Given the description of an element on the screen output the (x, y) to click on. 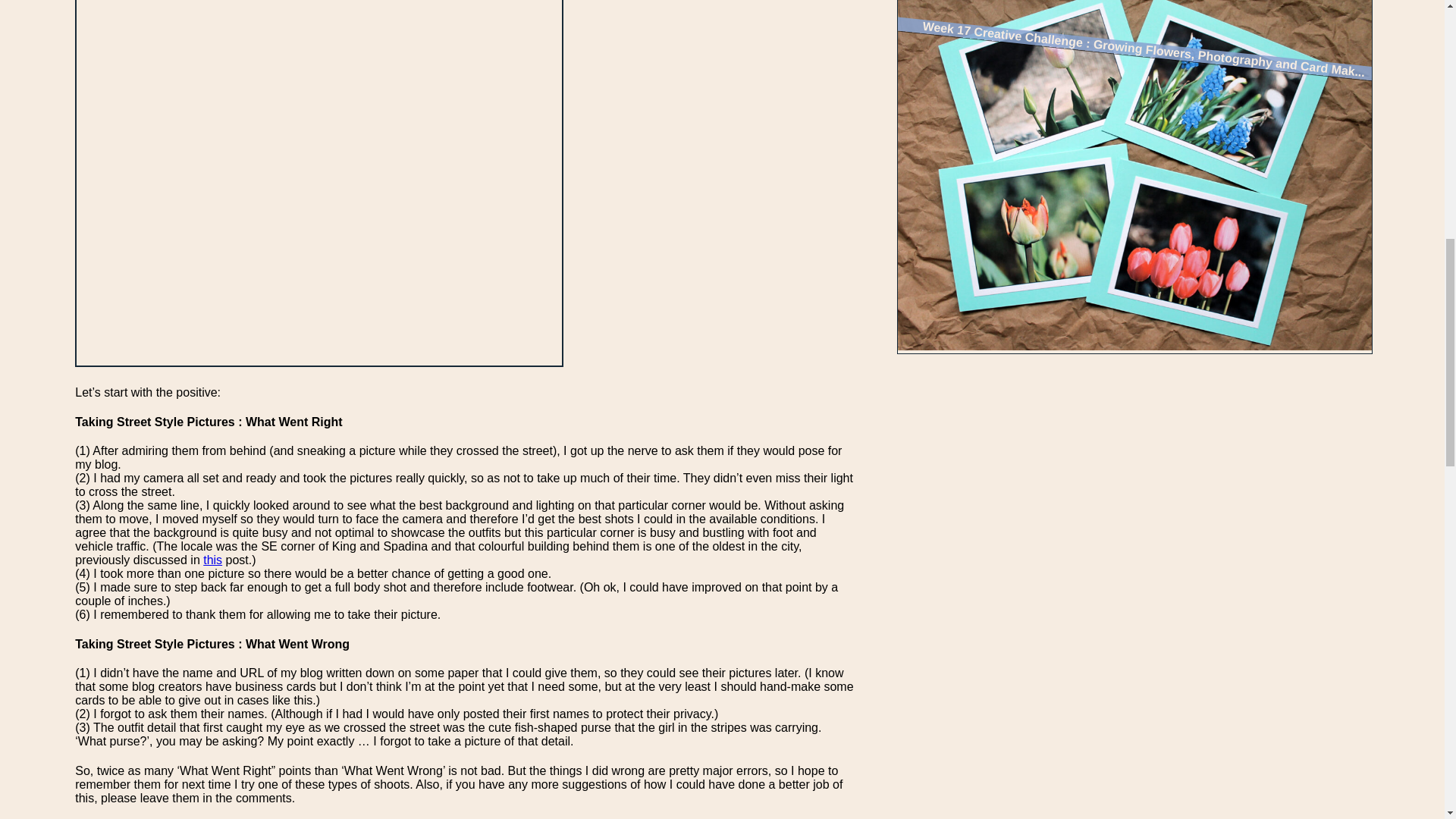
this (212, 559)
